Given the description of an element on the screen output the (x, y) to click on. 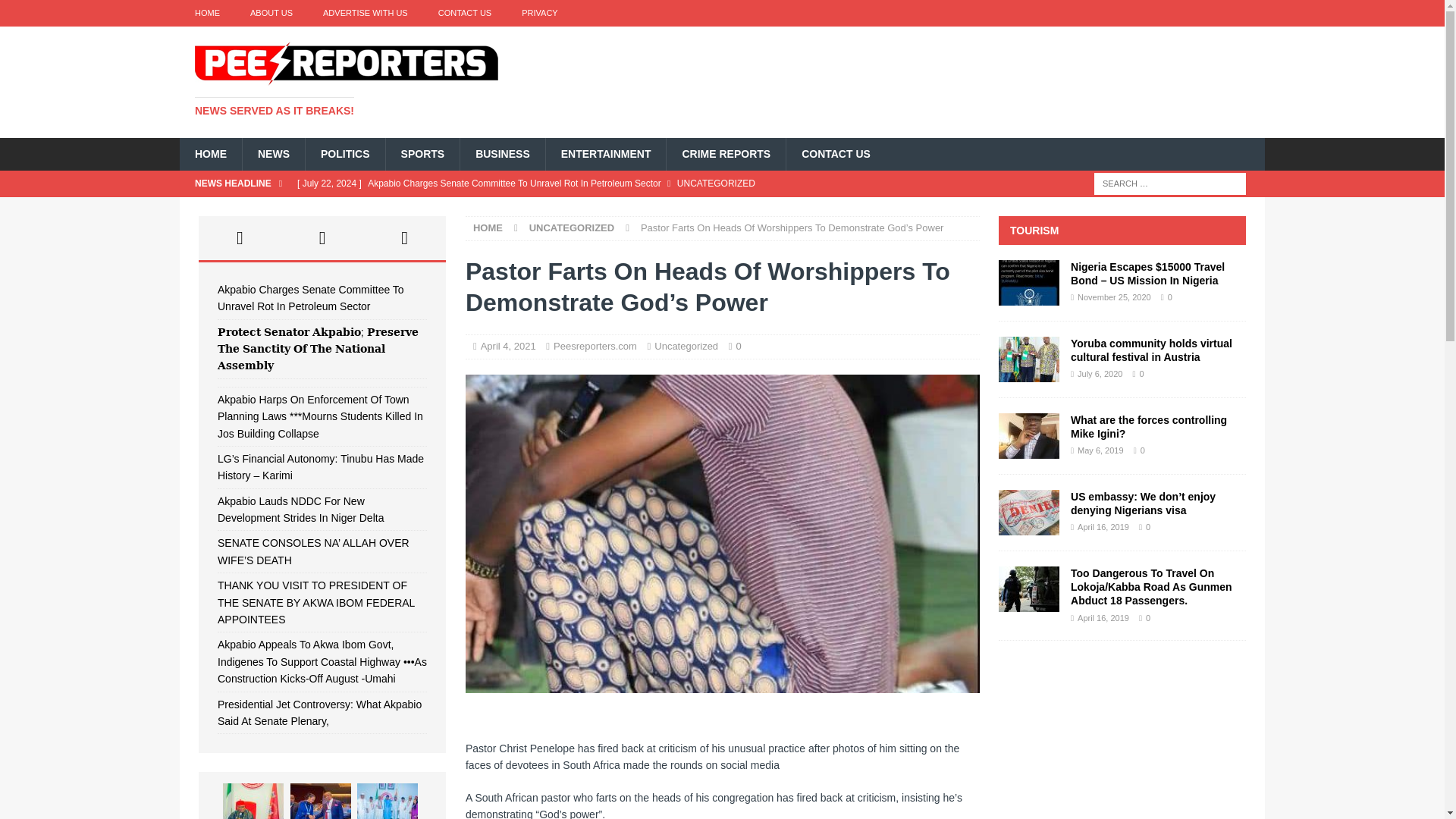
HOME (206, 13)
POLITICS (344, 153)
ADVERTISE WITH US (365, 13)
NEWS (272, 153)
Peesreporters.com (596, 346)
CONTACT US (464, 13)
SPORTS (422, 153)
BUSINESS (502, 153)
CONTACT US (835, 153)
ABOUT US (270, 13)
Search (56, 11)
NEWS SERVED AS IT BREAKS! (274, 110)
ENTERTAINMENT (605, 153)
